Given the description of an element on the screen output the (x, y) to click on. 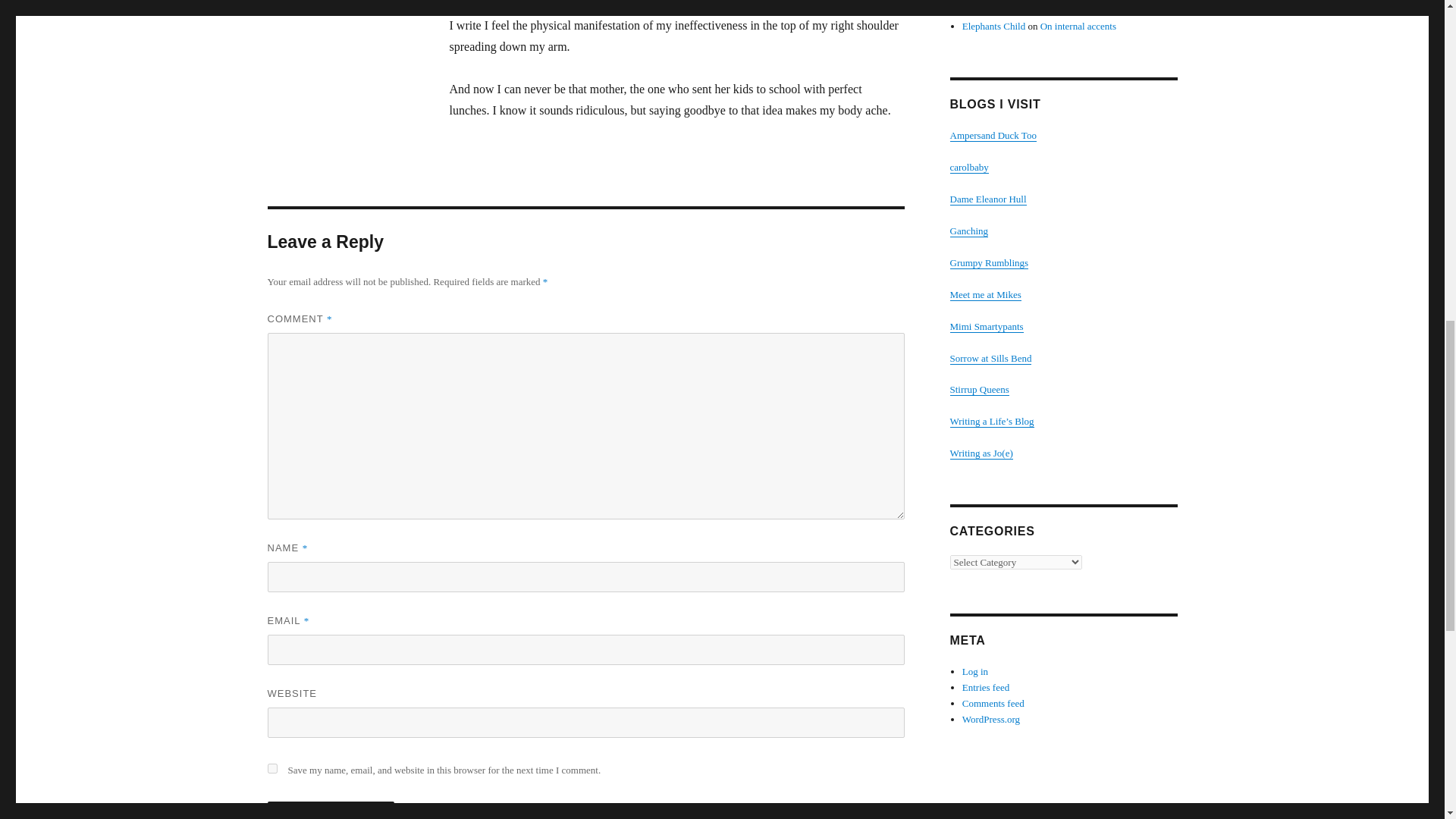
On internal accents (1078, 9)
Post Comment (330, 810)
Mimi Smartypants (986, 326)
Grumpy Rumblings (988, 262)
Dame Eleanor Hull (987, 198)
Elephants Child (993, 9)
Elephants Child (993, 25)
WordPress.org (991, 718)
On internal accents (1078, 25)
Post Comment (330, 810)
carolbaby (968, 166)
yes (271, 768)
Comments feed (993, 703)
Stirrup Queens (979, 389)
Log in (975, 671)
